Given the description of an element on the screen output the (x, y) to click on. 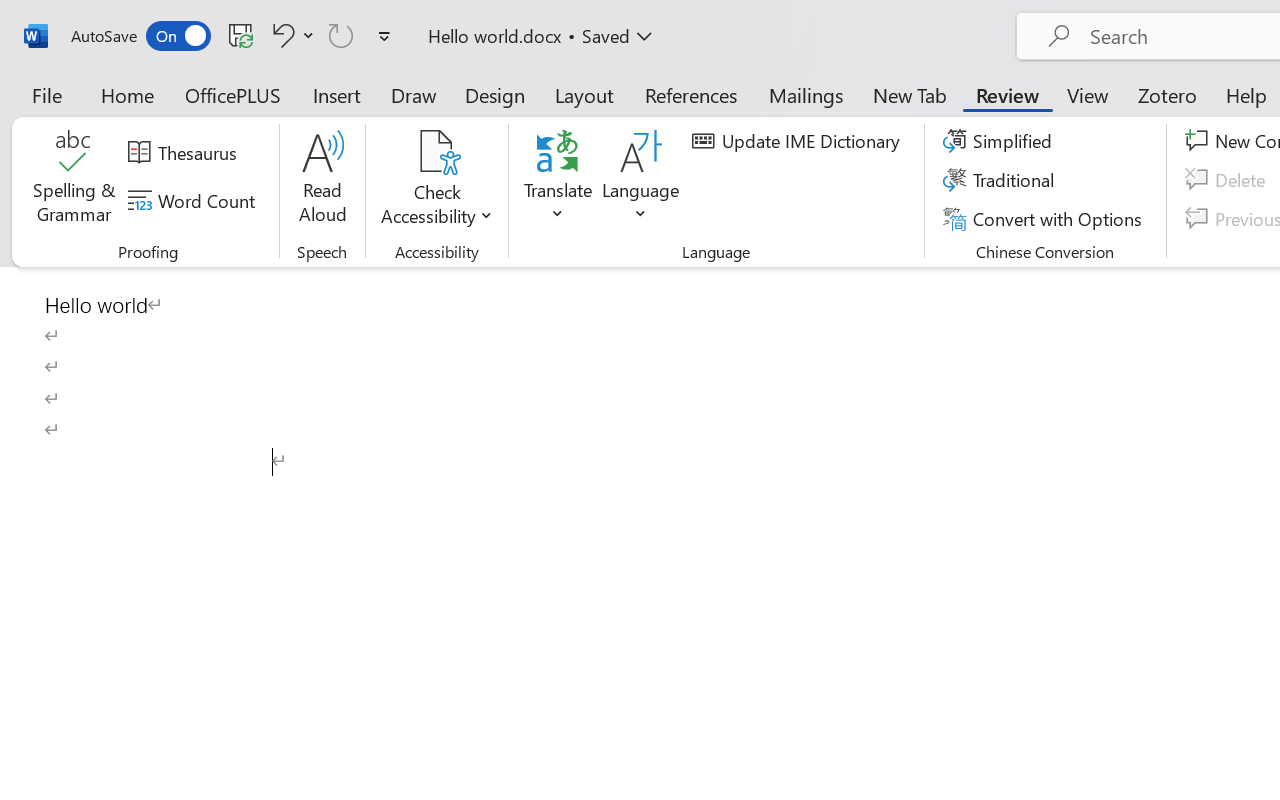
Cameo (91, 114)
